Given the description of an element on the screen output the (x, y) to click on. 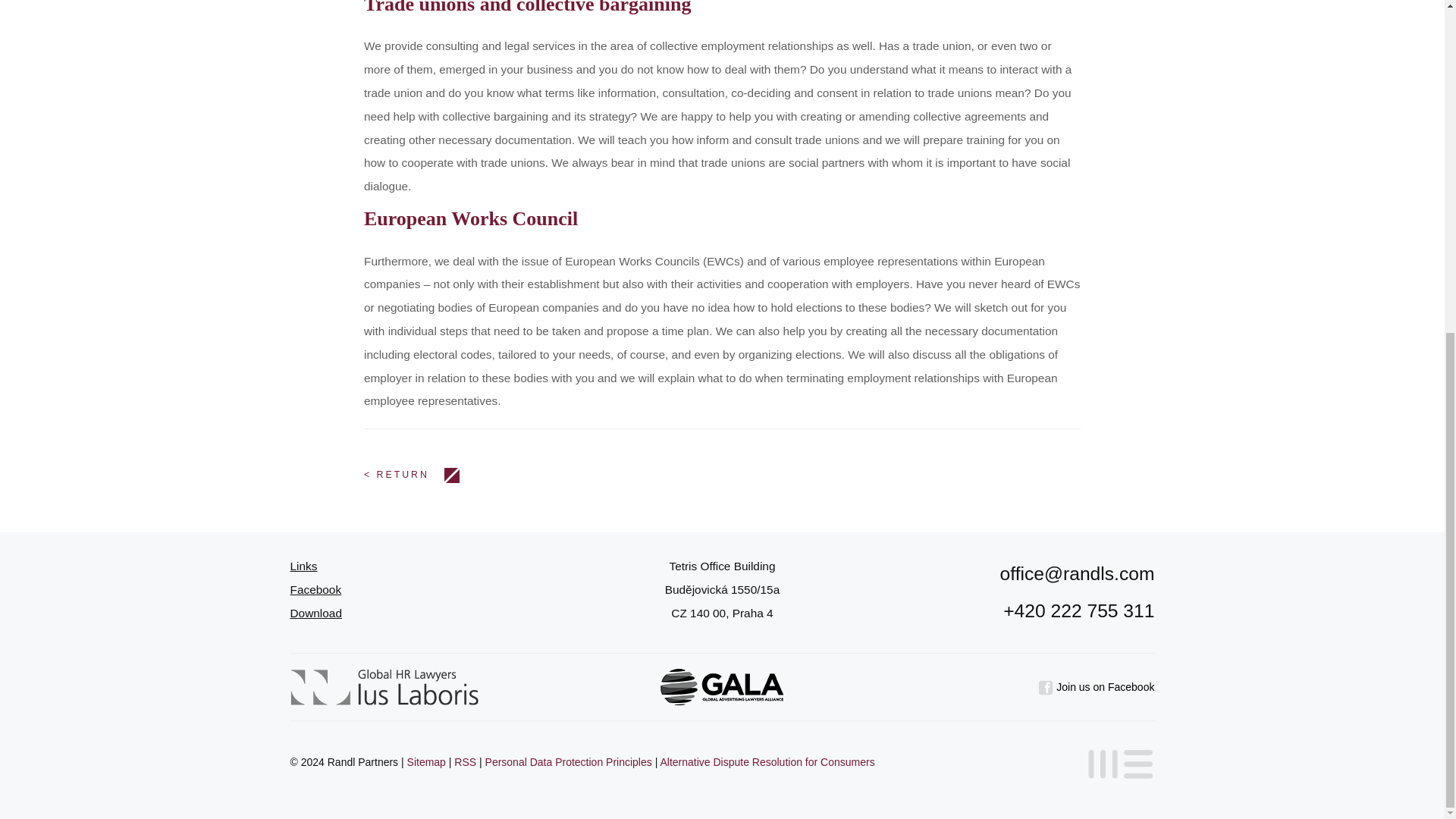
Sitemap (426, 761)
Alternative Dispute Resolution for Consumers (767, 761)
Links (303, 565)
Facebook (314, 589)
Download (314, 612)
Personal Data Protection Principles (568, 761)
Join us on Facebook (1096, 686)
RSS (465, 761)
